Given the description of an element on the screen output the (x, y) to click on. 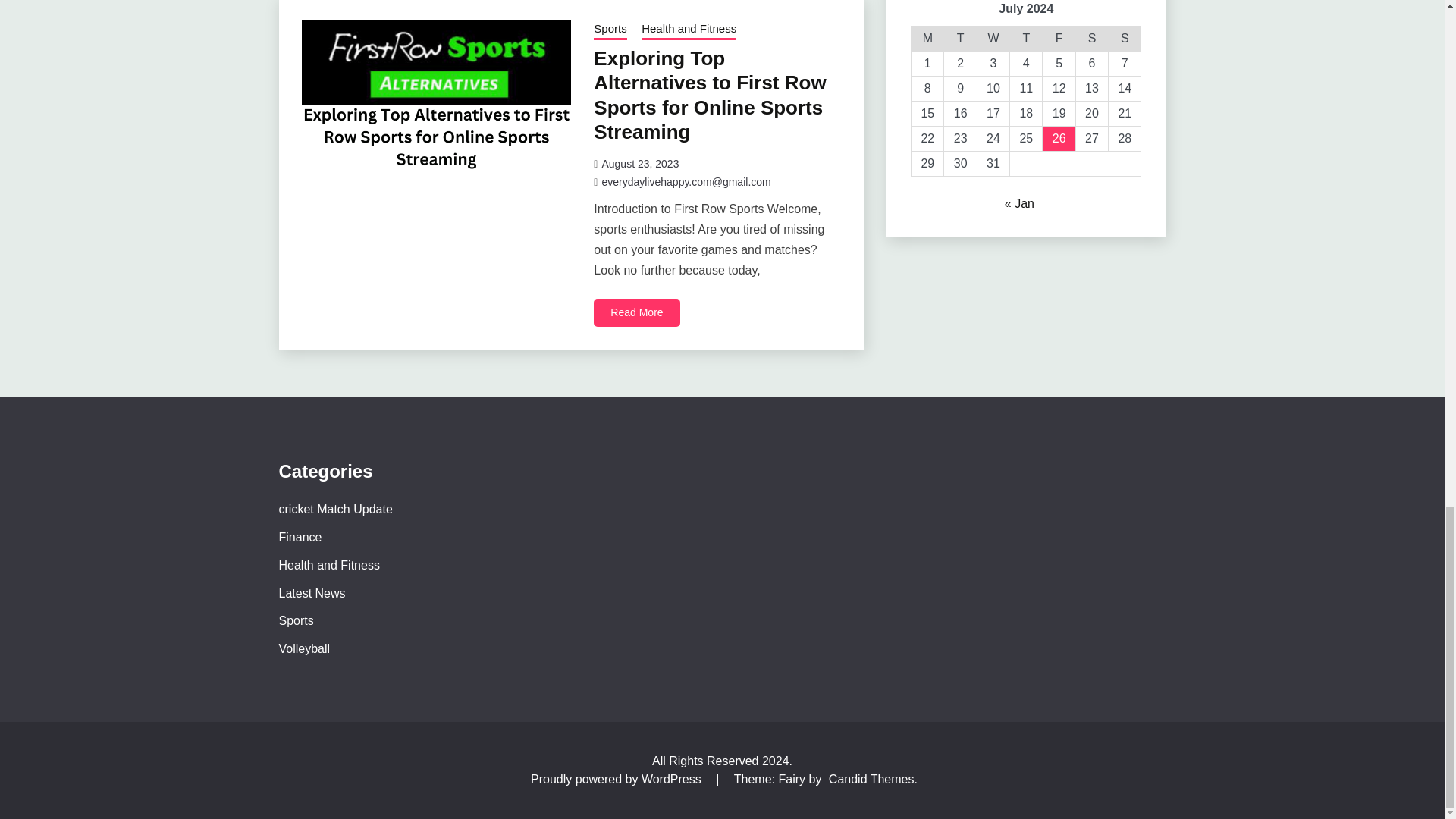
Monday (927, 38)
Sunday (1124, 38)
Saturday (1091, 38)
Thursday (1026, 38)
Tuesday (959, 38)
Wednesday (992, 38)
Friday (1058, 38)
